Given the description of an element on the screen output the (x, y) to click on. 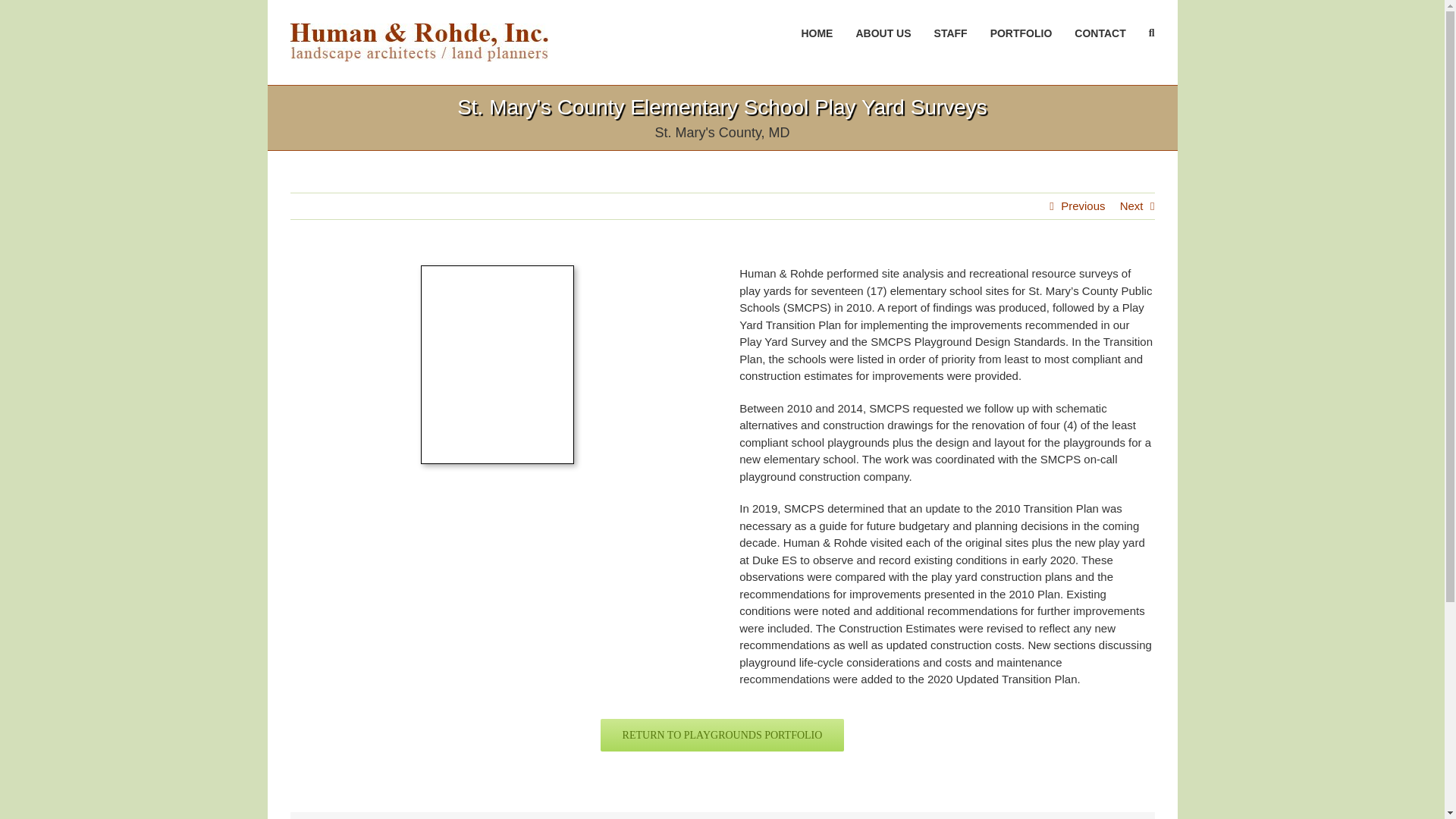
RETURN TO PLAYGROUNDS PORTFOLIO (721, 735)
Previous (1083, 206)
PORTFOLIO (1021, 33)
RETURN TO PLAYGROUNDS PORTFOLIO (721, 742)
Next (1130, 206)
